Given the description of an element on the screen output the (x, y) to click on. 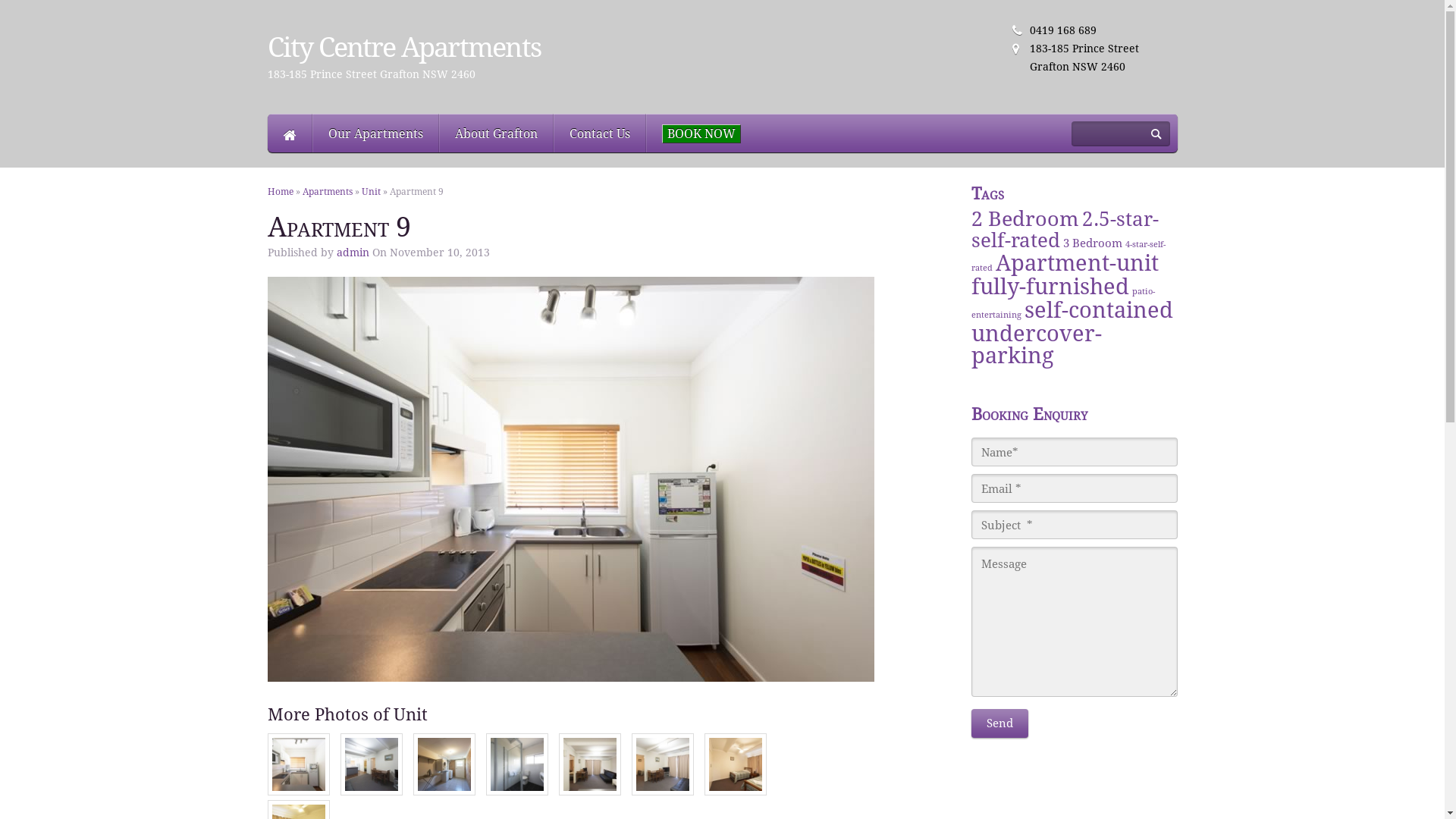
City Centre Apartments  - 027- Unit 9- Low Res Element type: hover (370, 764)
Contact Us Element type: text (599, 132)
City Centre Apartments  - 020- Unit 9- Low Res Element type: hover (516, 764)
City Centre Apartments Element type: text (402, 47)
City Centre Apartments  - 025- Unit 9- Low Res Element type: hover (734, 764)
Home Element type: text (279, 191)
BOOK NOW Element type: text (701, 132)
City Centre Apartments  - 027- Unit 9- Low Res Element type: hover (370, 791)
City Centre Apartments  - 023- Unit 9- Low Res Element type: hover (589, 791)
2 Bedroom Element type: text (1025, 219)
City Centre Apartments  - 021- Unit 9- Low Res Element type: hover (297, 791)
undercover-parking Element type: text (1036, 344)
City Centre Apartments  - 025- Unit 9- Low Res Element type: hover (734, 791)
patio-entertaining Element type: text (1062, 303)
City Centre Apartments  - 019- Unit 9- Low Res Element type: hover (443, 791)
City Centre Apartments  - 021- Unit 9- Low Res Element type: hover (569, 478)
Apartment-unit Element type: text (1076, 263)
City Centre Apartments  - 024- Unit 9- Low Res Element type: hover (661, 764)
Unit Element type: text (369, 191)
City Centre Apartments  - 024- Unit 9- Low Res Element type: hover (661, 791)
Send Element type: text (999, 723)
City Centre Apartments  - 023- Unit 9- Low Res Element type: hover (589, 764)
admin Element type: text (352, 252)
City Centre Apartments  - 019- Unit 9- Low Res Element type: hover (443, 764)
City Centre Apartments  - 020- Unit 9- Low Res Element type: hover (516, 791)
Our Apartments Element type: text (375, 132)
2.5-star-self-rated Element type: text (1064, 229)
fully-furnished Element type: text (1050, 286)
3 Bedroom Element type: text (1092, 243)
About Grafton Element type: text (495, 132)
4-star-self-rated Element type: text (1068, 256)
Apartments Element type: text (326, 191)
Home Element type: text (288, 132)
City Centre Apartments  - 021- Unit 9- Low Res Element type: hover (297, 764)
self-contained Element type: text (1098, 310)
